Given the description of an element on the screen output the (x, y) to click on. 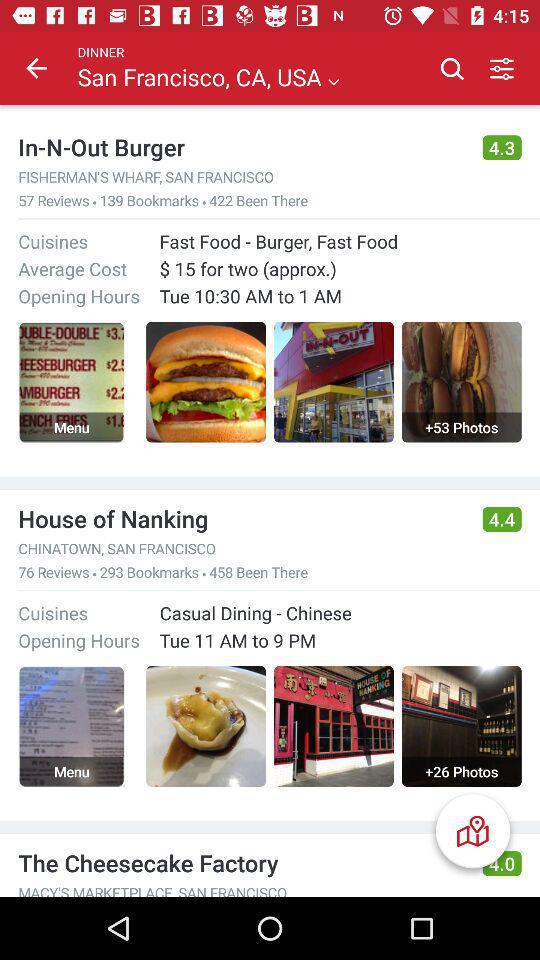
flip to 76 reviews item (53, 571)
